Given the description of an element on the screen output the (x, y) to click on. 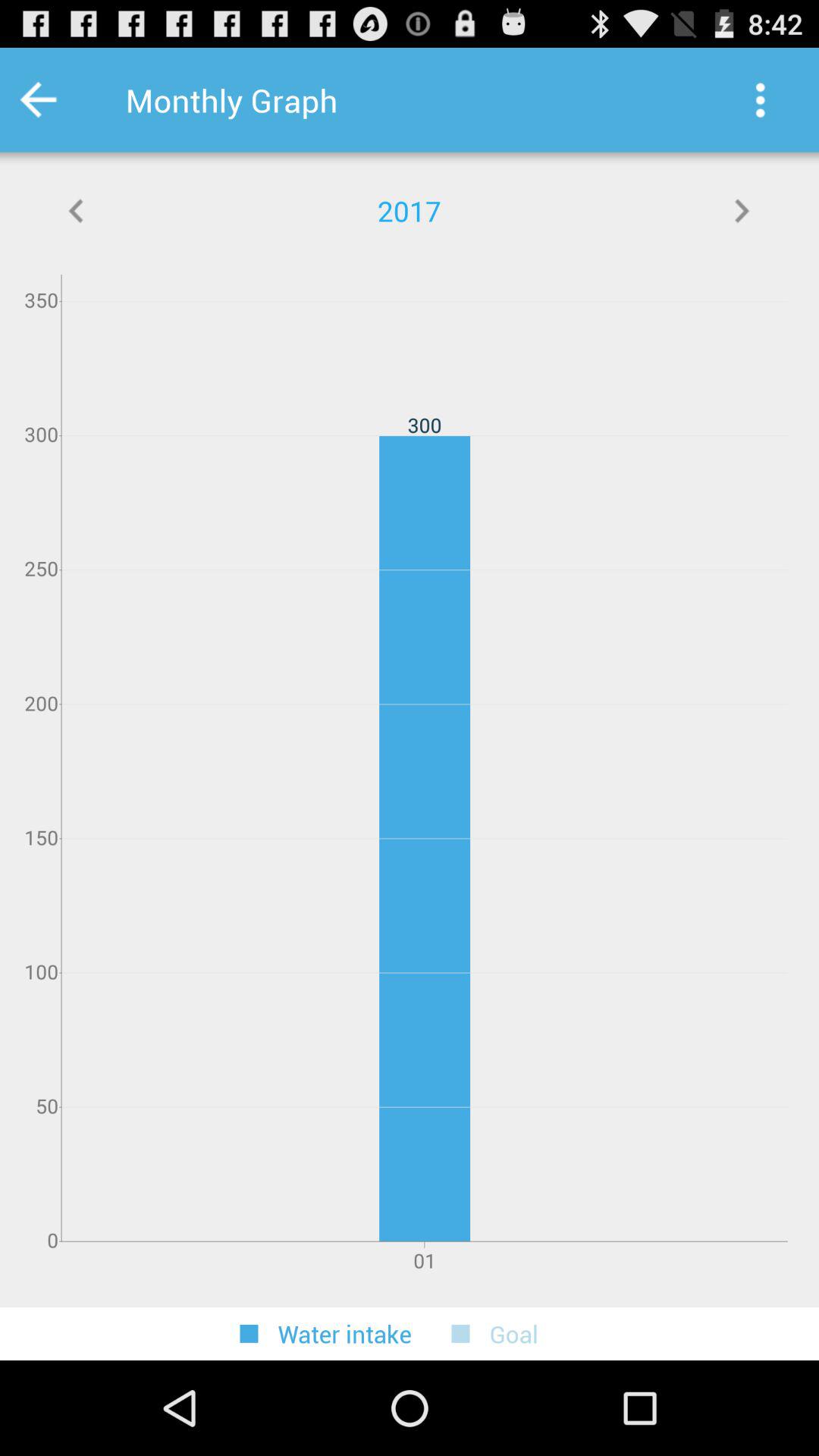
go back (76, 210)
